Given the description of an element on the screen output the (x, y) to click on. 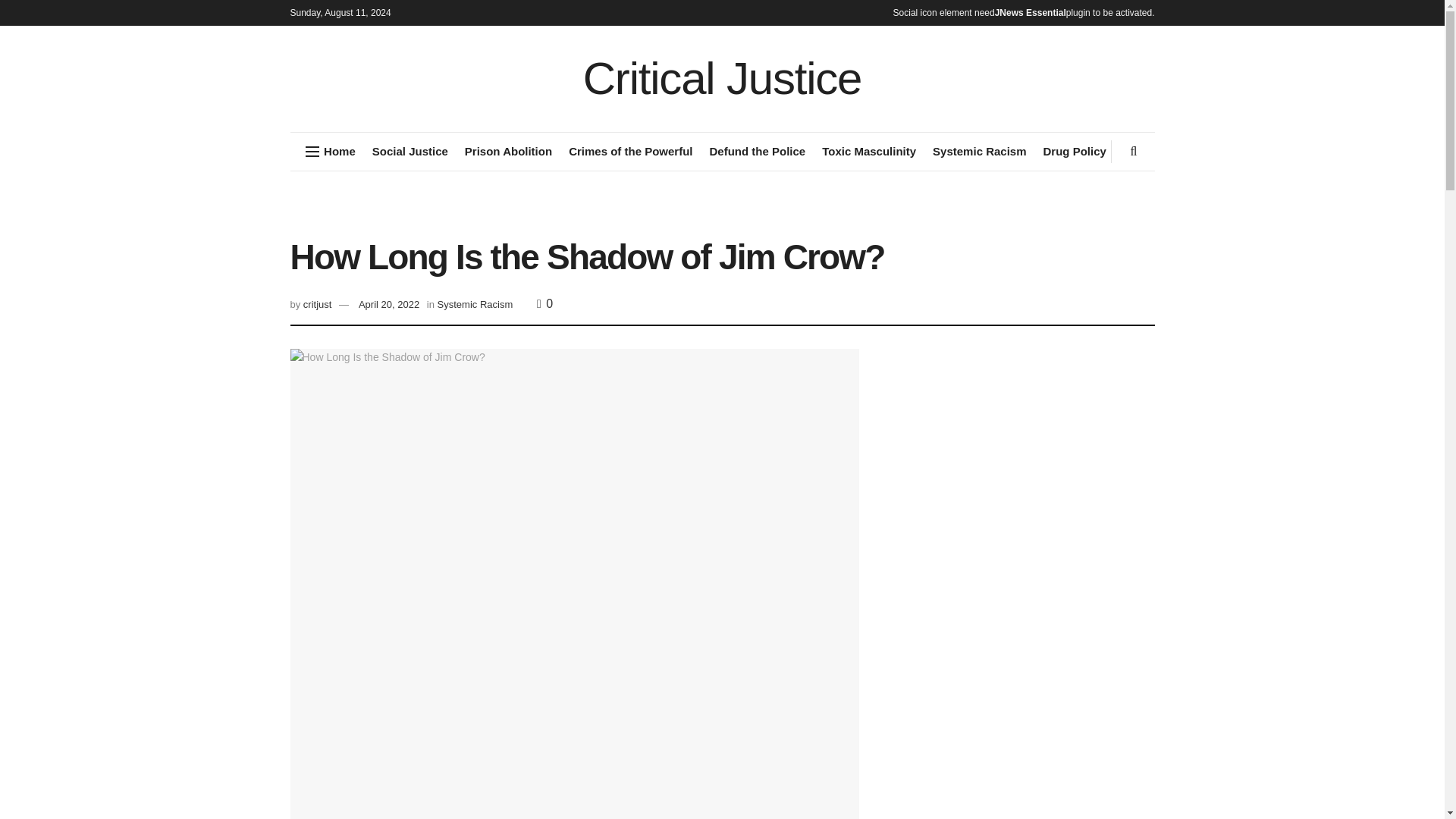
Prison Abolition (507, 151)
Drug Policy (1074, 151)
0 (545, 303)
Toxic Masculinity (868, 151)
Social Justice (410, 151)
Systemic Racism (979, 151)
Systemic Racism (475, 304)
critjust (316, 304)
Defund the Police (757, 151)
Crimes of the Powerful (631, 151)
